Given the description of an element on the screen output the (x, y) to click on. 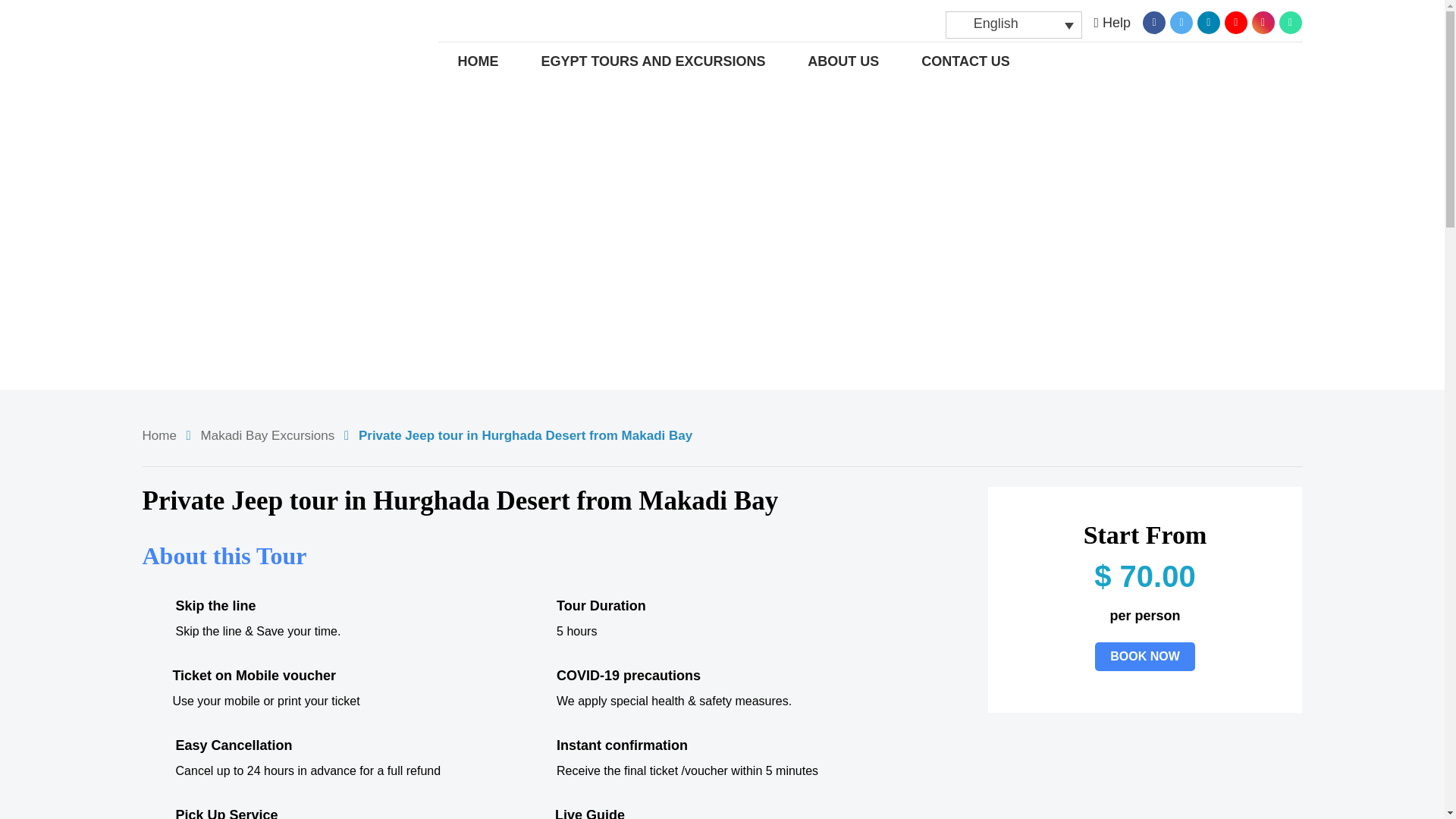
EGYPT TOURS AND EXCURSIONS (652, 61)
BOOK NOW (1144, 656)
Help (1112, 22)
CONTACT US (965, 61)
English (1012, 24)
Home (159, 435)
Makadi Bay Excursions (267, 435)
HOME (478, 61)
ABOUT US (843, 61)
